Given the description of an element on the screen output the (x, y) to click on. 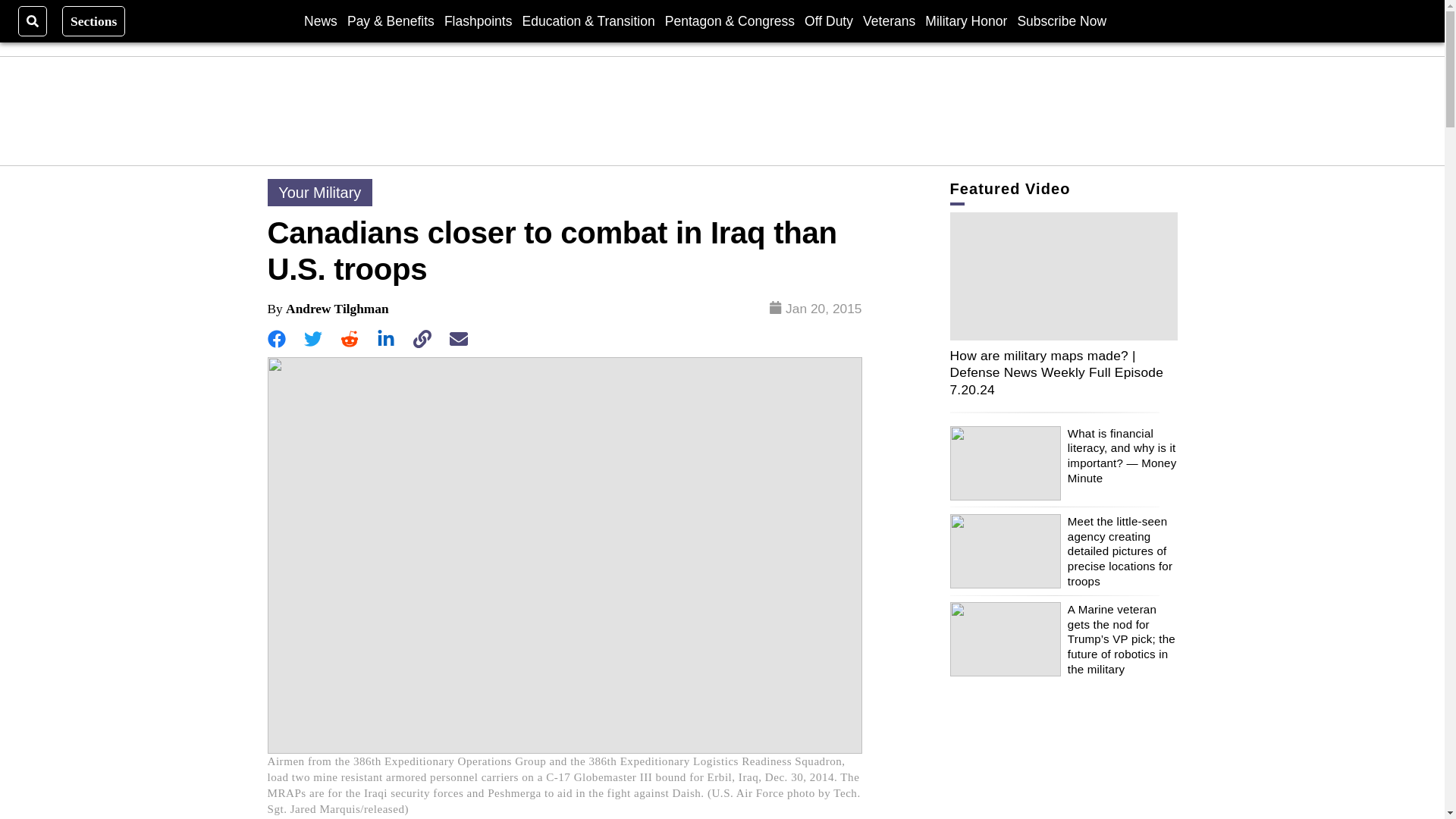
Veterans (889, 20)
Military Honor (965, 20)
News (320, 20)
Sections (93, 20)
Off Duty (829, 20)
Flashpoints (478, 20)
